Given the description of an element on the screen output the (x, y) to click on. 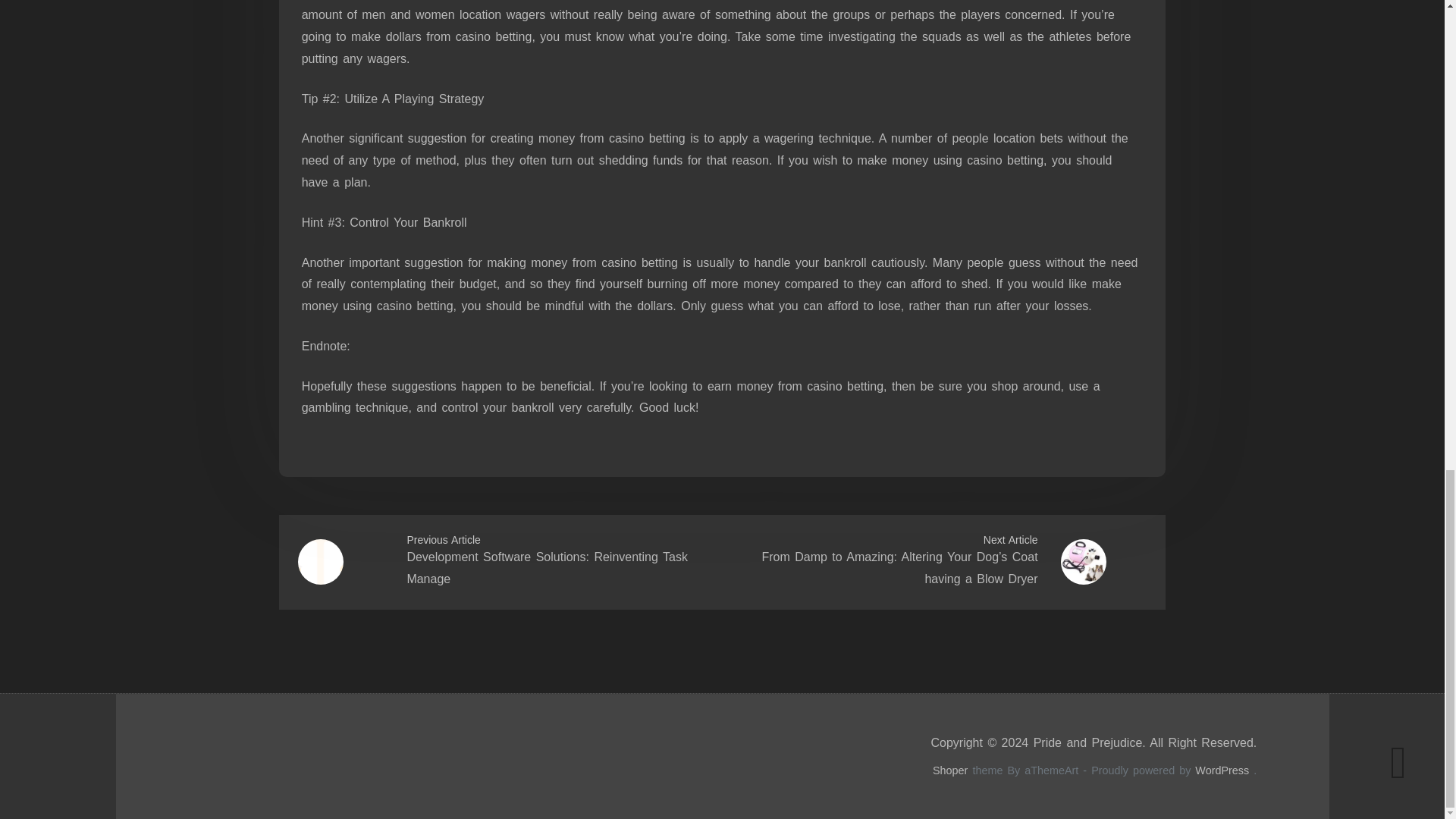
Development Software Solutions: Reinventing Task Manage (546, 567)
WordPress (1222, 770)
Shoper (950, 770)
